Given the description of an element on the screen output the (x, y) to click on. 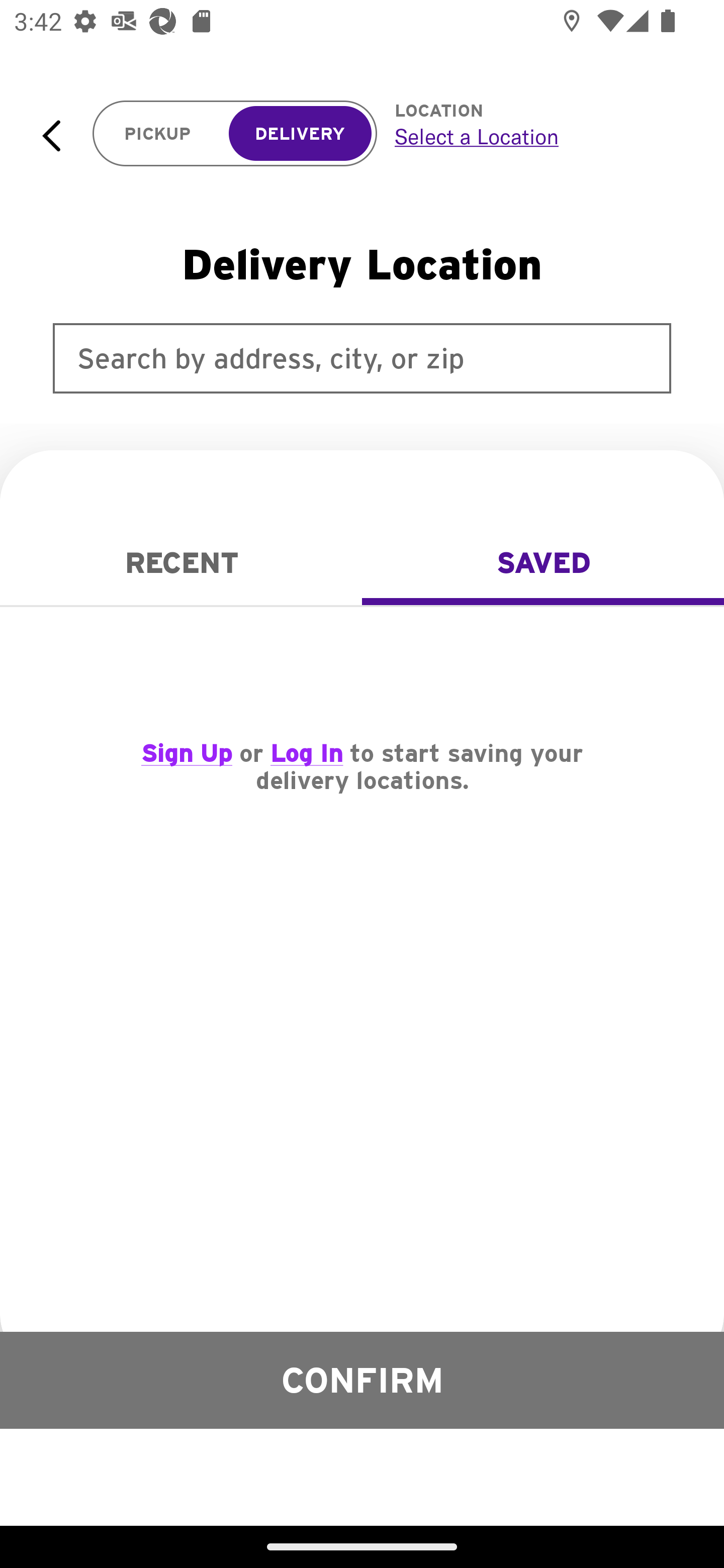
PICKUP (157, 133)
DELIVERY (299, 133)
Select a Location (536, 136)
Search by address, city, or zip (361, 358)
Recent RECENT (181, 562)
CONFIRM (362, 1379)
